Given the description of an element on the screen output the (x, y) to click on. 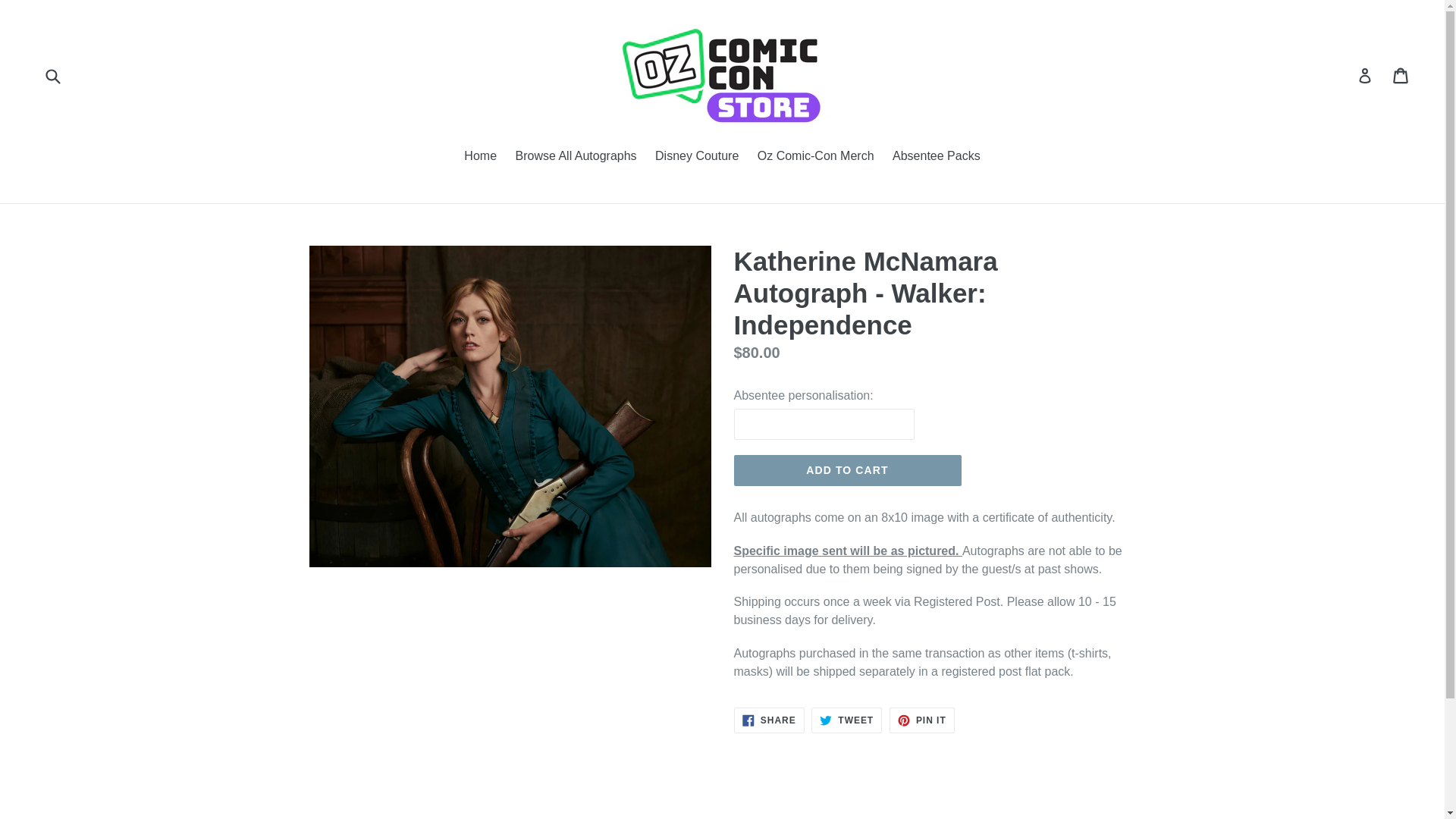
Pin on Pinterest (922, 720)
Disney Couture (696, 157)
Absentee Packs (769, 720)
Browse All Autographs (936, 157)
Share on Facebook (574, 157)
ADD TO CART (769, 720)
Home (846, 470)
Tweet on Twitter (922, 720)
Oz Comic-Con Merch (480, 157)
